Given the description of an element on the screen output the (x, y) to click on. 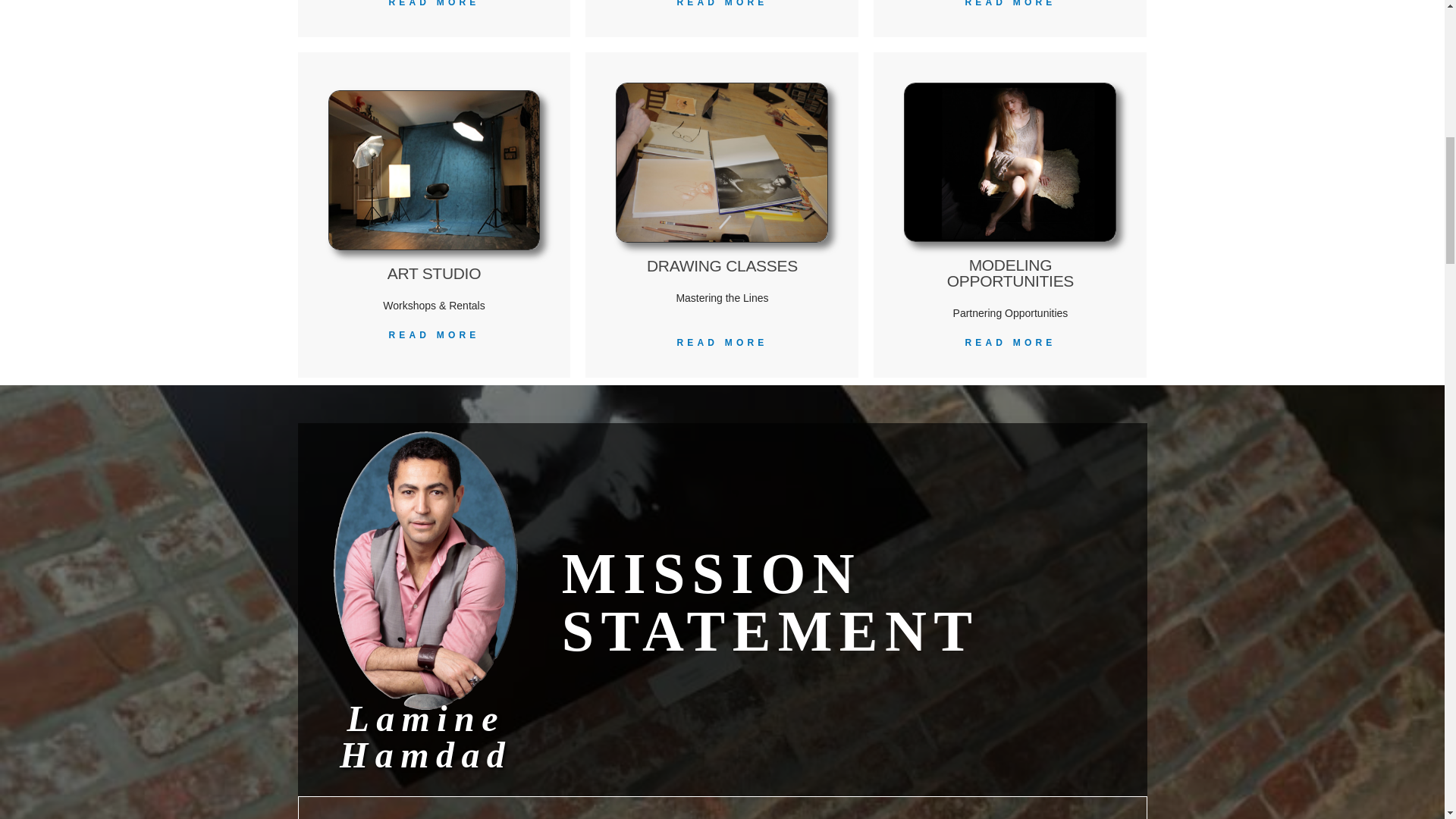
Kelly Home Box (1010, 161)
